Given the description of an element on the screen output the (x, y) to click on. 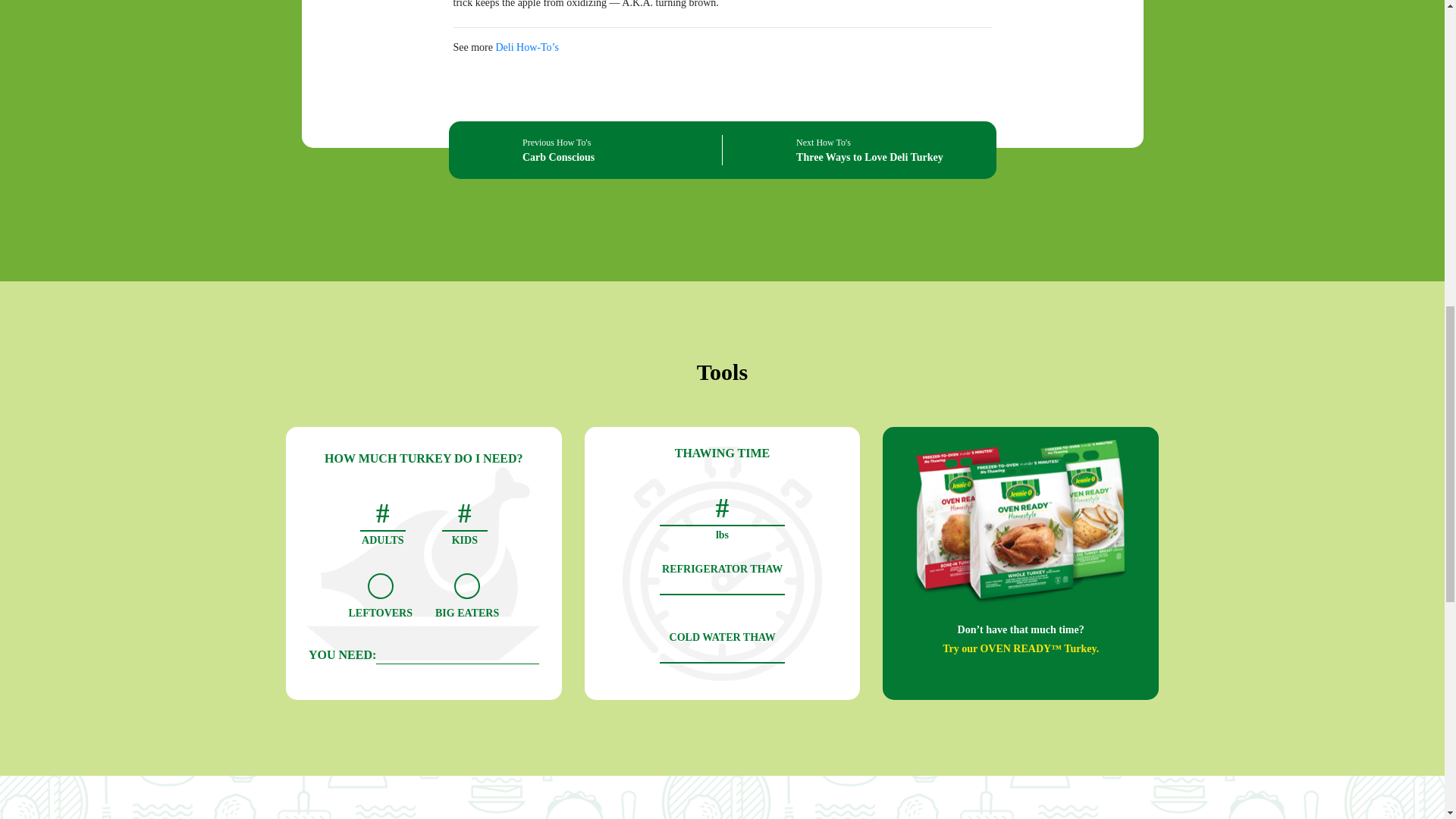
Carb Conscious (558, 156)
Three Ways to Love Deli Turkey (869, 156)
